Given the description of an element on the screen output the (x, y) to click on. 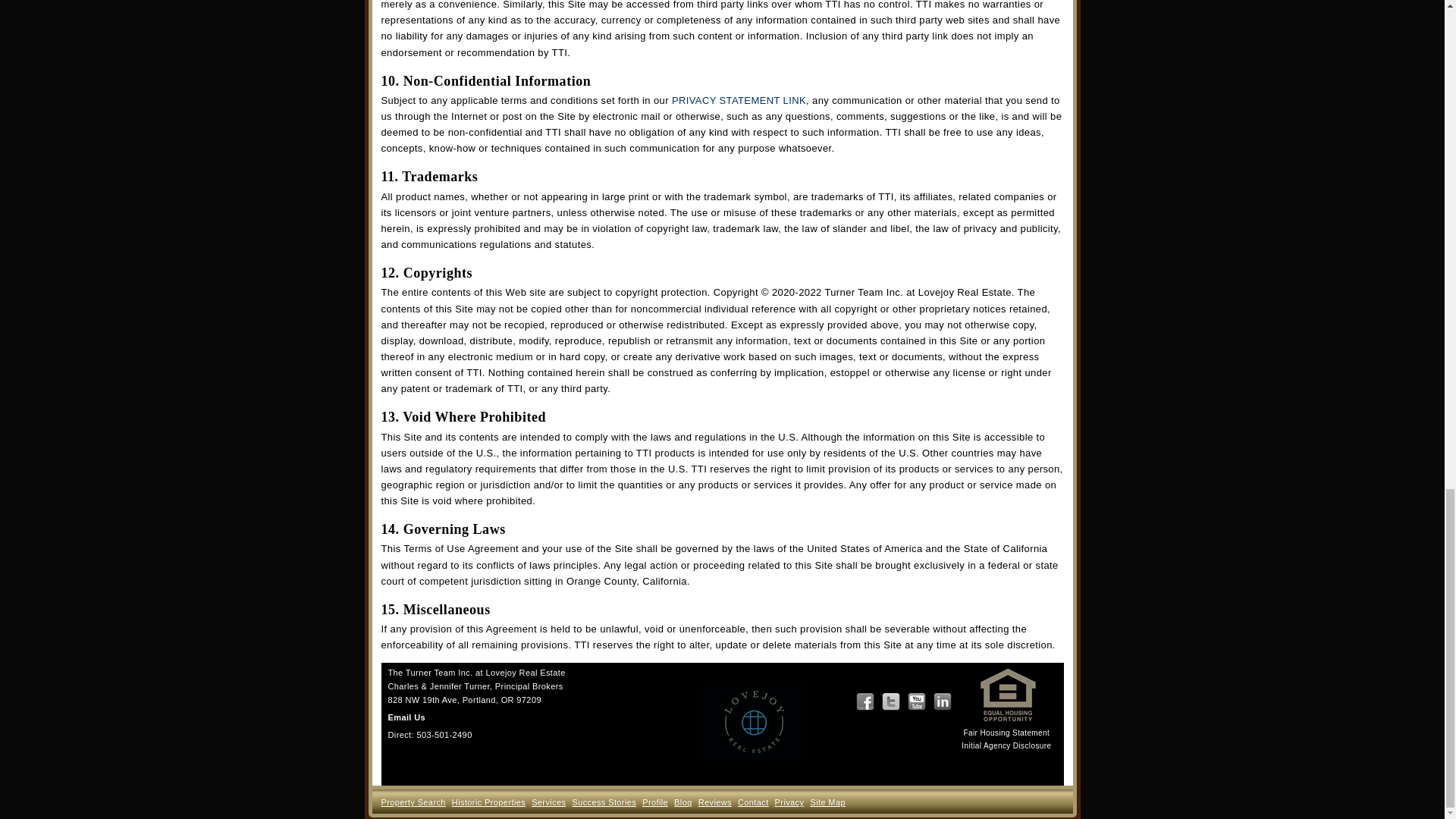
Success Stories (604, 801)
Privacy Statement (738, 100)
PRIVACY STATEMENT LINK (738, 100)
Blog (683, 801)
Privacy (789, 801)
Initial Agency Disclosure (1006, 746)
Fair Housing Statement (1006, 733)
Fair Housing Statement (1006, 733)
Contact (753, 801)
Services (548, 801)
